Given the description of an element on the screen output the (x, y) to click on. 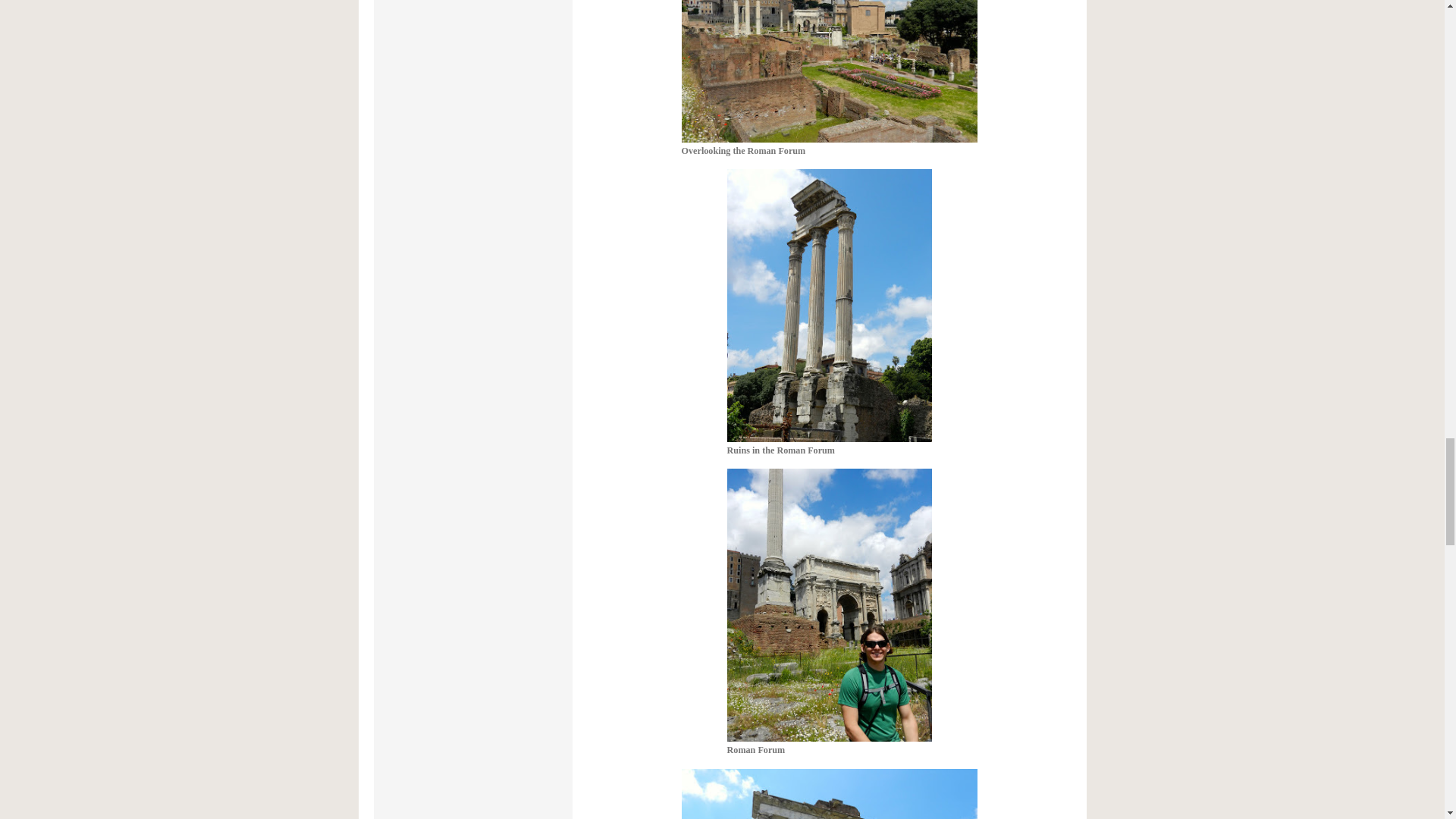
Remains in the Roman Forum (828, 794)
Overlooking the Roman Forum (828, 78)
